Given the description of an element on the screen output the (x, y) to click on. 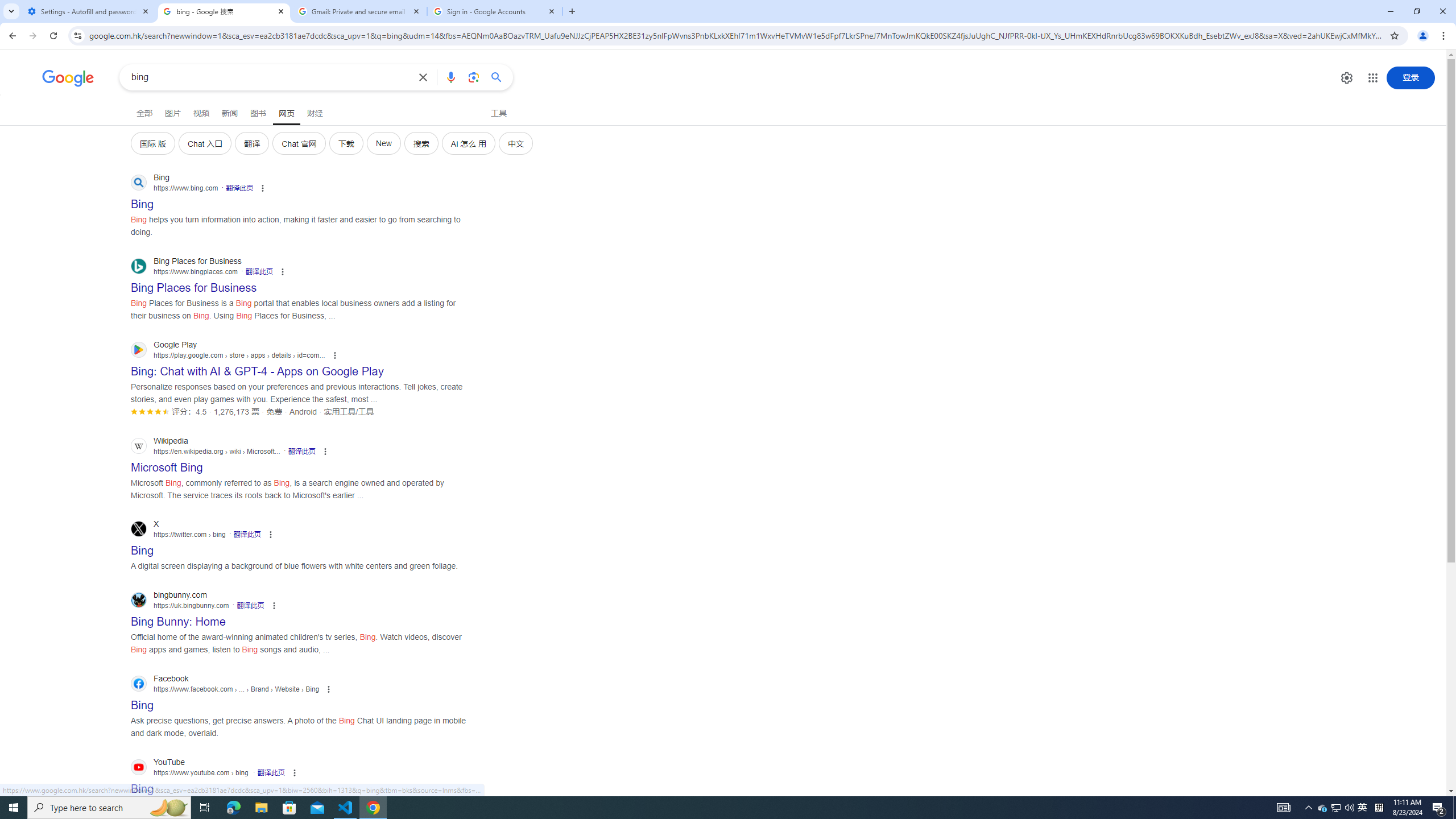
Sign in - Google Accounts (494, 11)
